Given the description of an element on the screen output the (x, y) to click on. 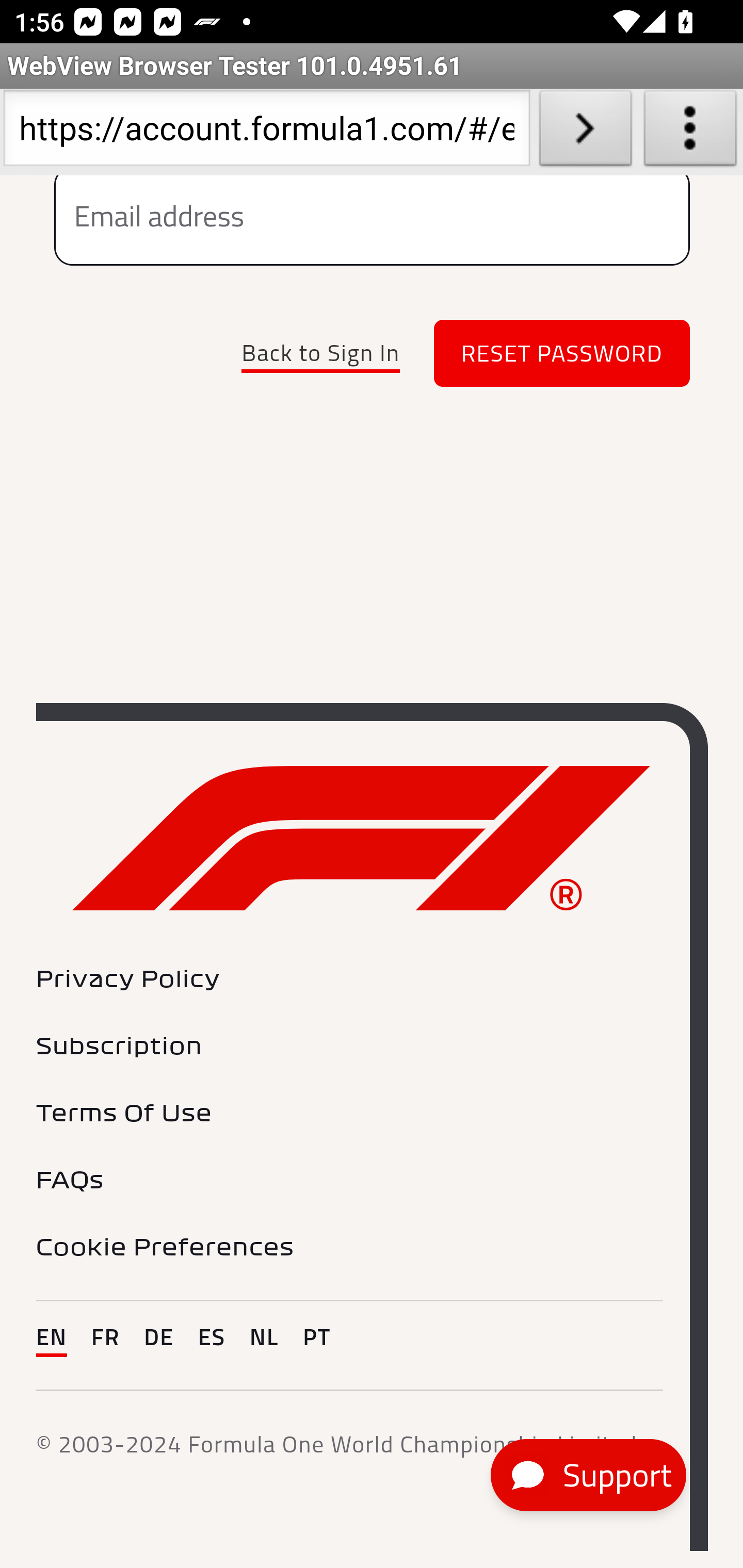
Load URL (585, 132)
About WebView (690, 132)
RESET PASSWORD (562, 353)
Back to Sign In (320, 353)
Formula1 (361, 838)
Privacy Policy (129, 980)
Subscription (119, 1047)
Terms Of Use (124, 1113)
FAQs (70, 1180)
Cookie Preferences (166, 1246)
EN (52, 1335)
FR (105, 1335)
DE (158, 1335)
ES (211, 1335)
NL (263, 1335)
PT (316, 1335)
Support (588, 1475)
